Given the description of an element on the screen output the (x, y) to click on. 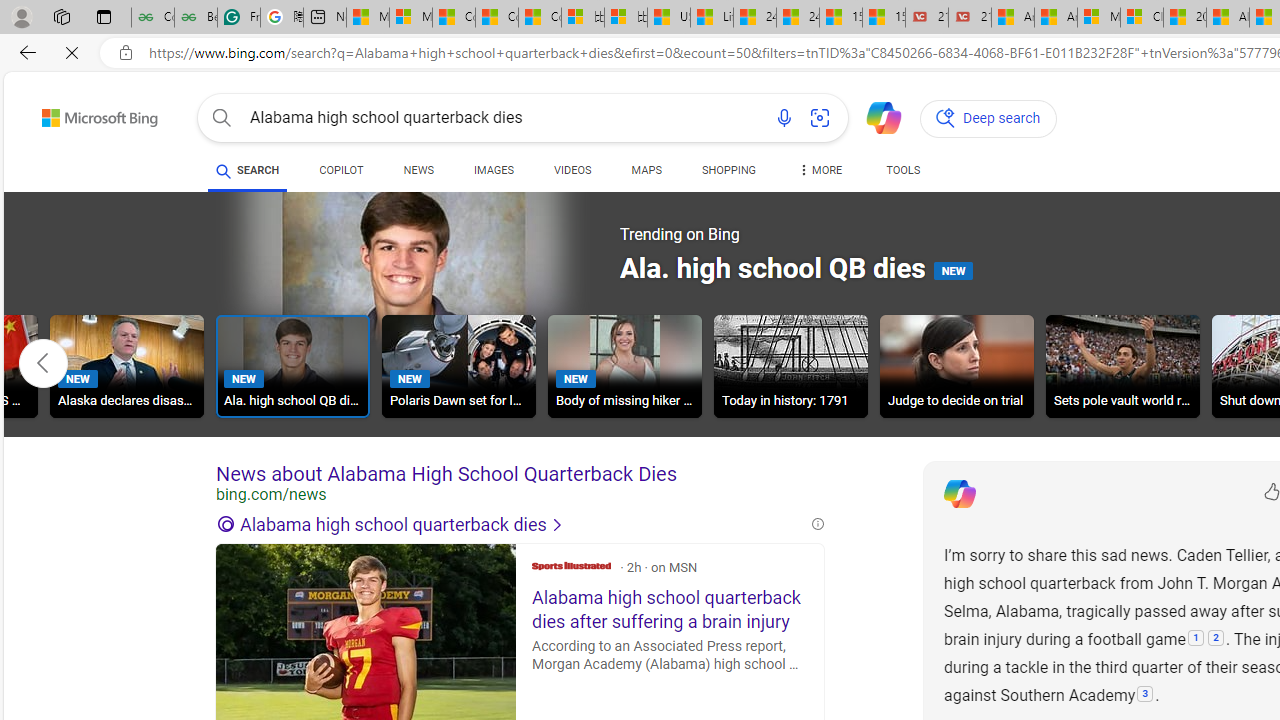
USA TODAY - MSN (668, 17)
20 Ways to Boost Your Protein Intake at Every Meal (1184, 17)
21 Movies That Outdid the Books They Were Based On (969, 17)
Lifestyle - MSN (712, 17)
